Given the description of an element on the screen output the (x, y) to click on. 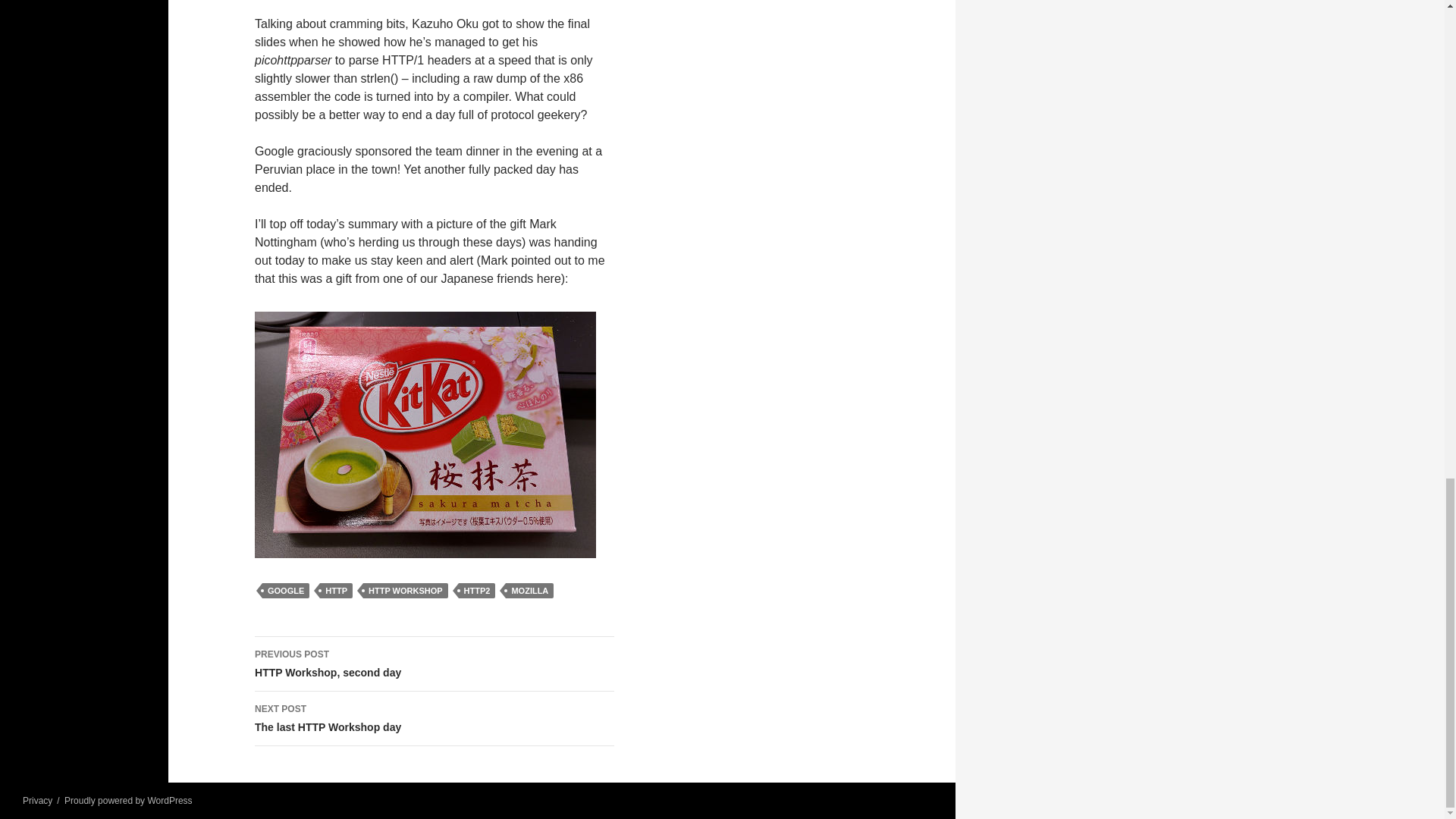
kitkat (424, 434)
HTTP (336, 590)
GOOGLE (285, 590)
HTTP WORKSHOP (405, 590)
MOZILLA (529, 590)
HTTP2 (477, 590)
